Given the description of an element on the screen output the (x, y) to click on. 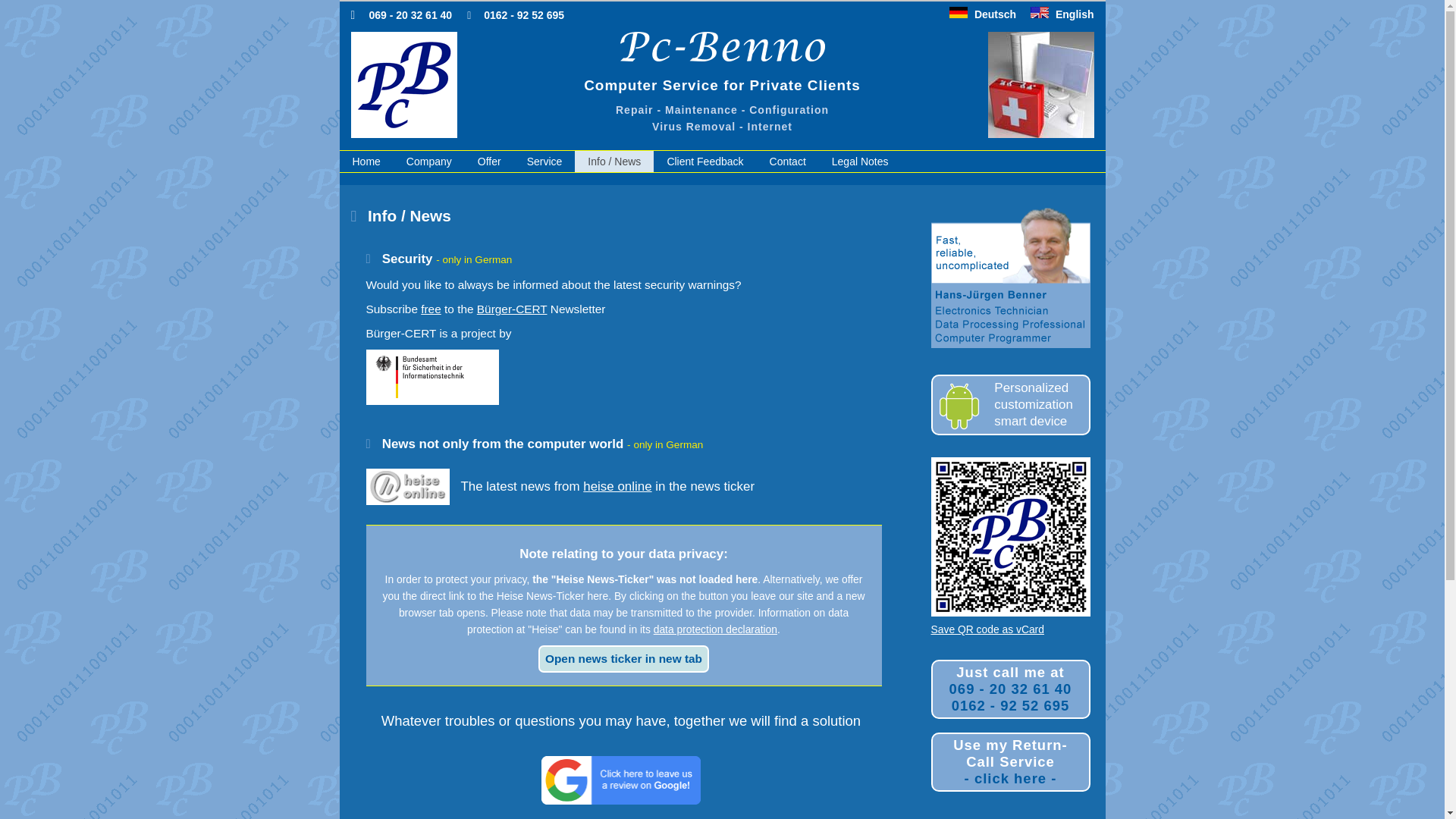
Legal Notes (859, 160)
Offer (488, 160)
Home Pc-Benno (403, 133)
Deutsch (982, 14)
Language English (1039, 12)
Home Pc-Benno Computer Service (403, 84)
First Aid for Computer (1040, 84)
Company (428, 160)
Language English (1056, 14)
English (1056, 14)
Contact (787, 160)
Language German (722, 13)
Service (982, 14)
Pc-Benno Computer Service for Private Clients (544, 160)
